Given the description of an element on the screen output the (x, y) to click on. 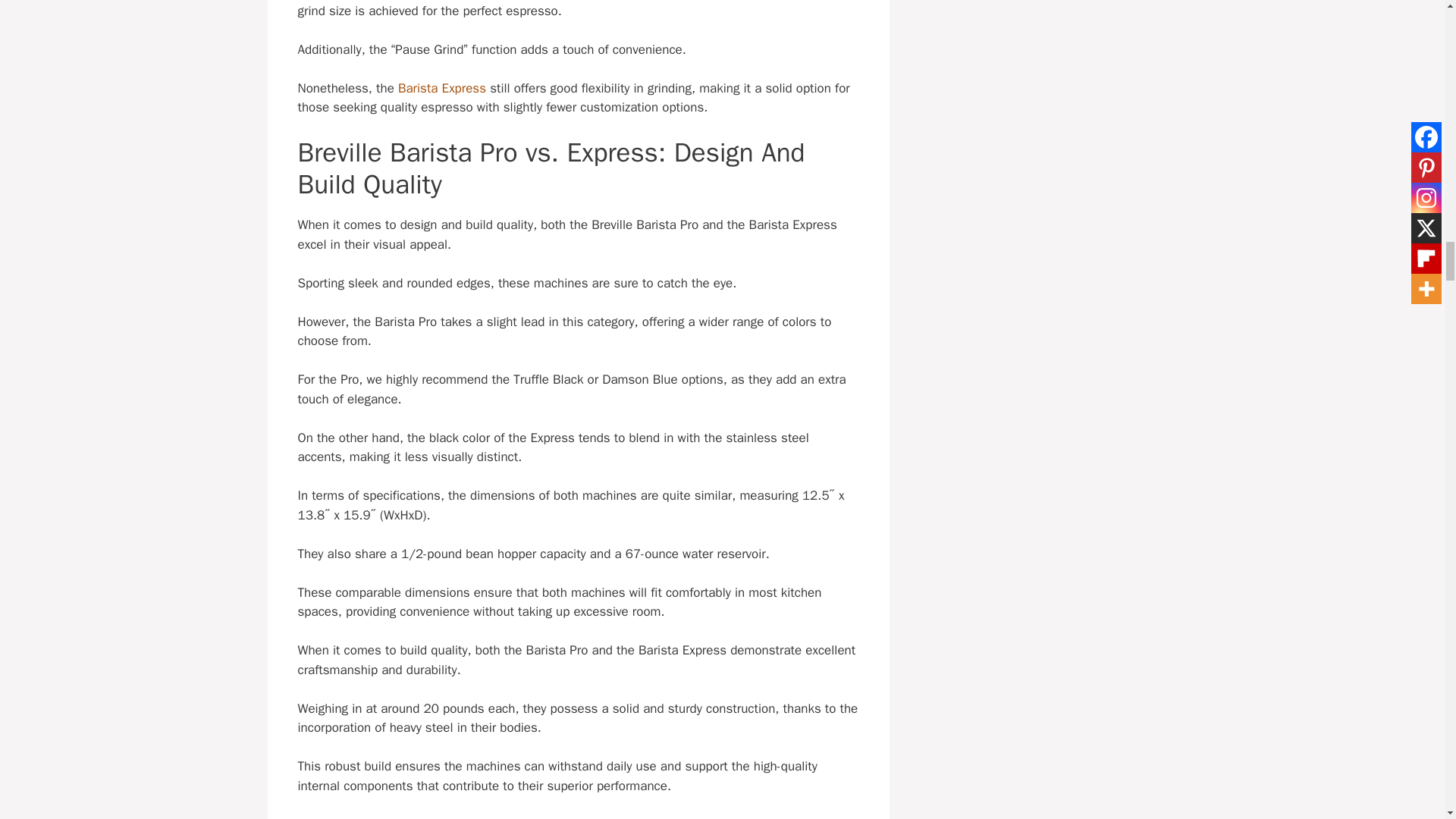
Barista Express (441, 88)
